Given the description of an element on the screen output the (x, y) to click on. 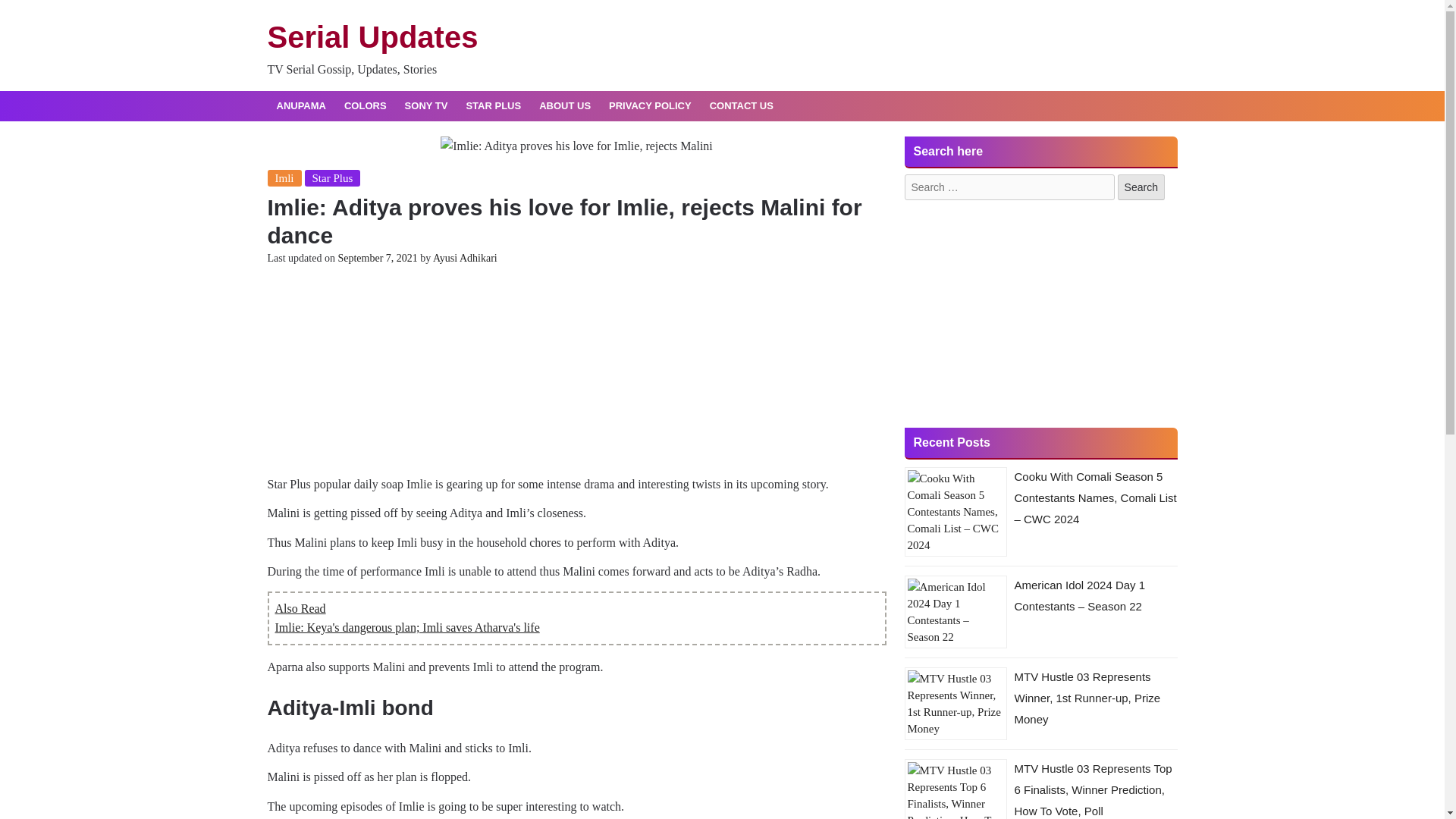
COLORS (365, 106)
Serial Updates (371, 37)
Search (1141, 186)
MTV Hustle 03 Represents Winner, 1st Runner-up, Prize Money (1087, 698)
CONTACT US (741, 106)
ABOUT US (564, 106)
PRIVACY POLICY (649, 106)
SONY TV (426, 106)
Search (1141, 186)
September 7, 2021 (376, 257)
